Given the description of an element on the screen output the (x, y) to click on. 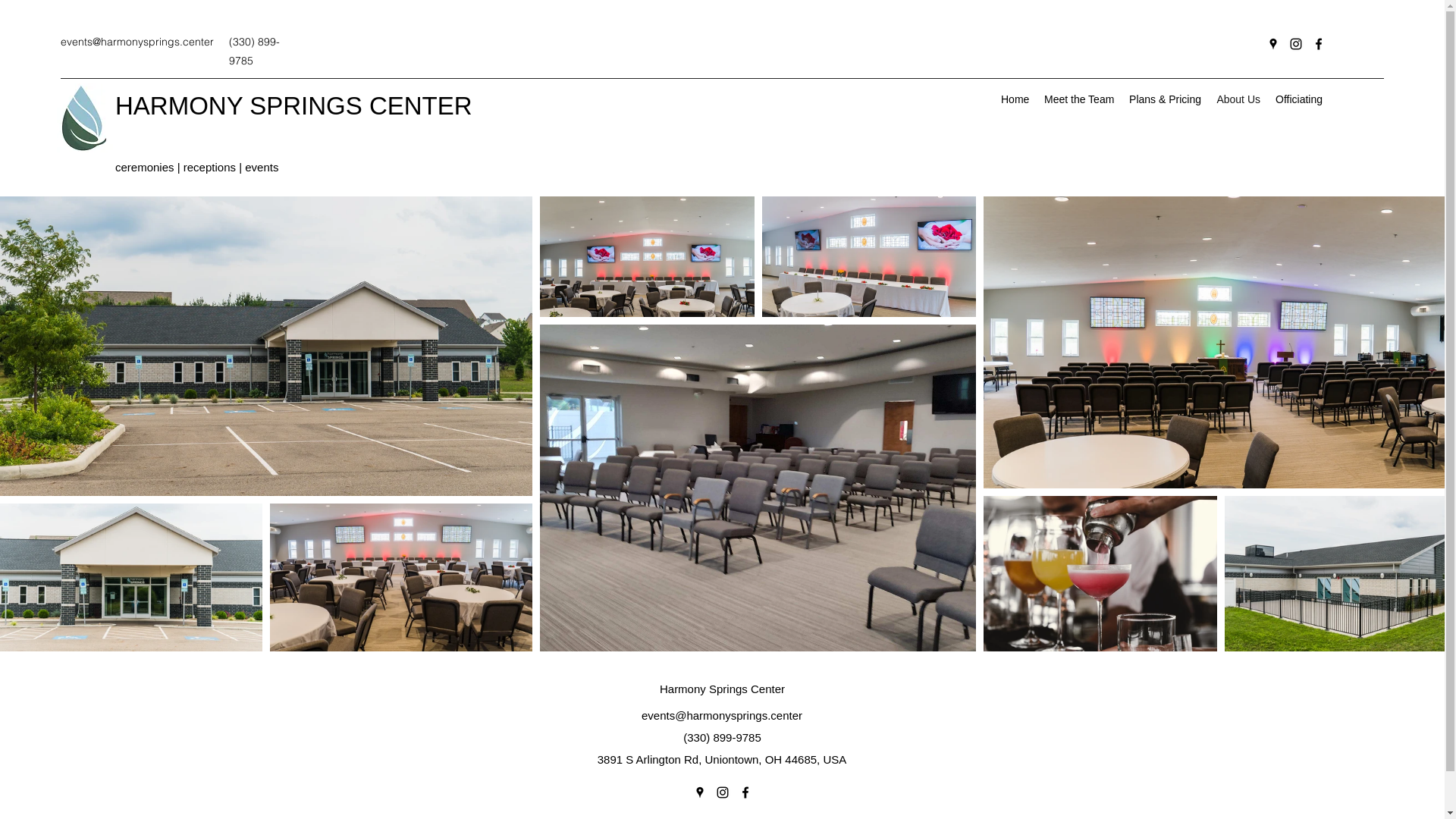
Meet the Team Element type: text (1078, 98)
events@harmonysprings.center Element type: text (136, 41)
events@harmonysprings.center Element type: text (721, 715)
HARMONY SPRINGS CENTER Element type: text (293, 105)
Officiating Element type: text (1298, 98)
Home Element type: text (1014, 98)
Harmony Springs Center Element type: text (721, 688)
About Us Element type: text (1237, 98)
